Given the description of an element on the screen output the (x, y) to click on. 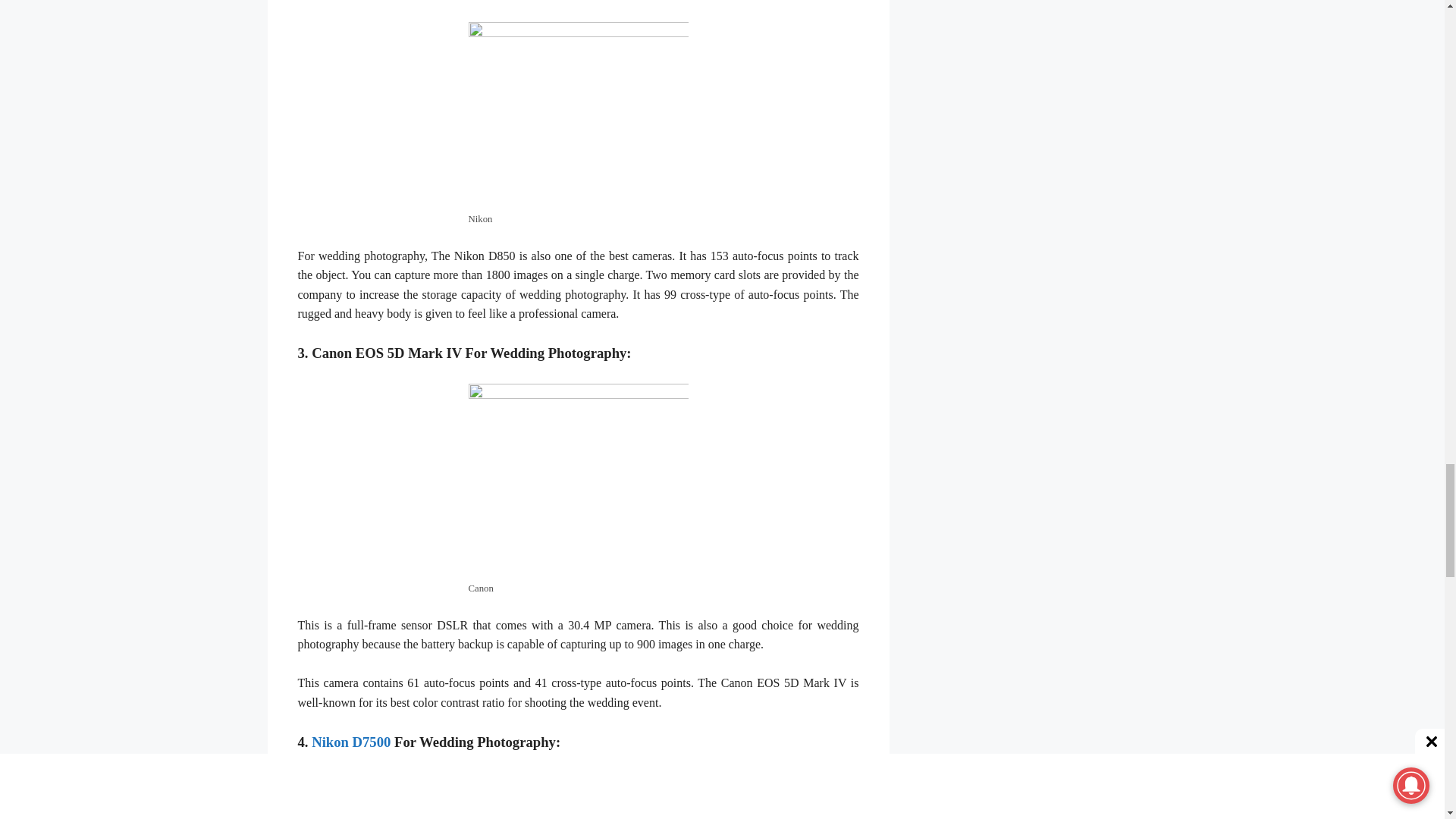
Nikon D7500 (352, 741)
